Given the description of an element on the screen output the (x, y) to click on. 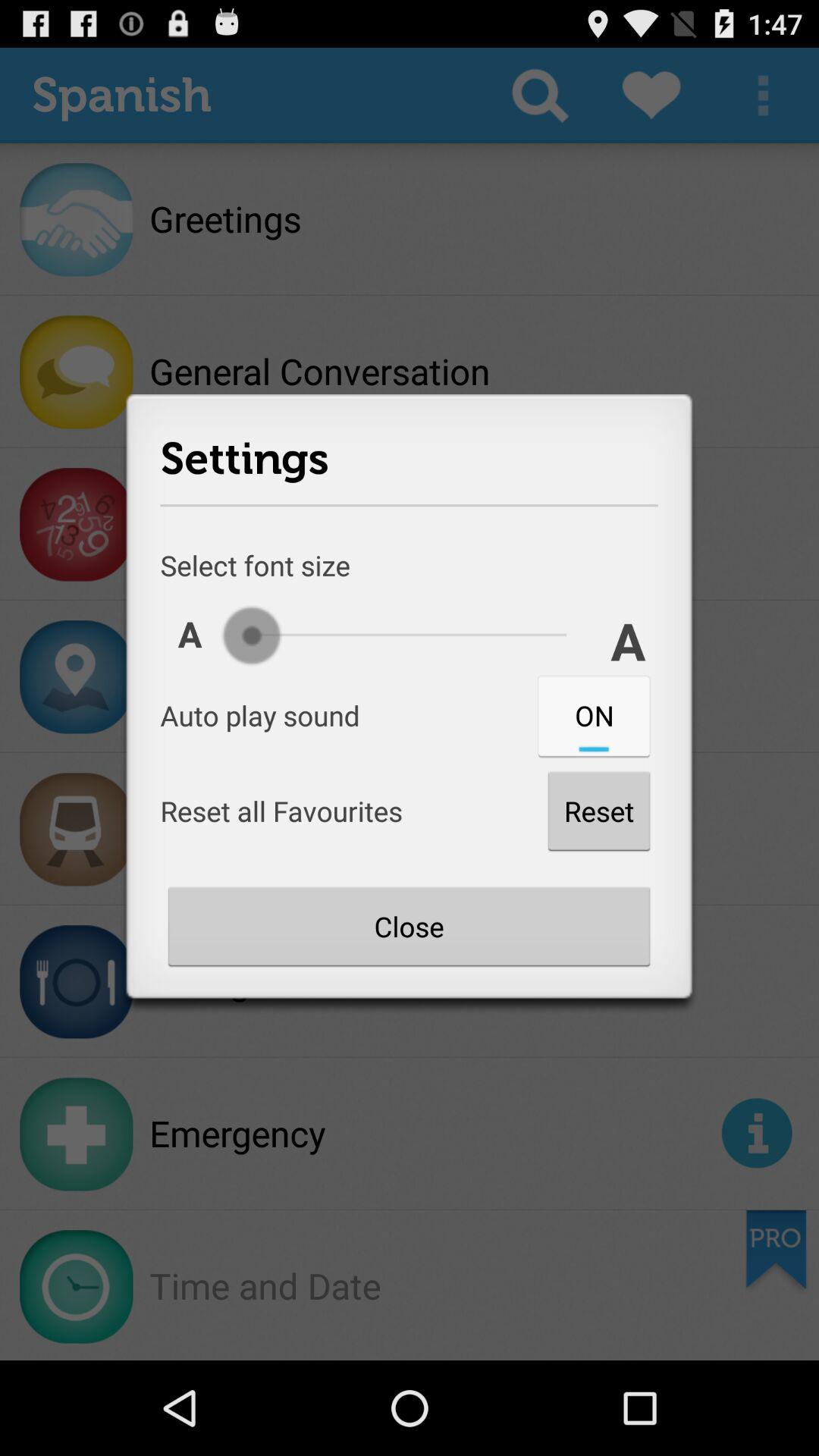
tap on (594, 715)
